Given the description of an element on the screen output the (x, y) to click on. 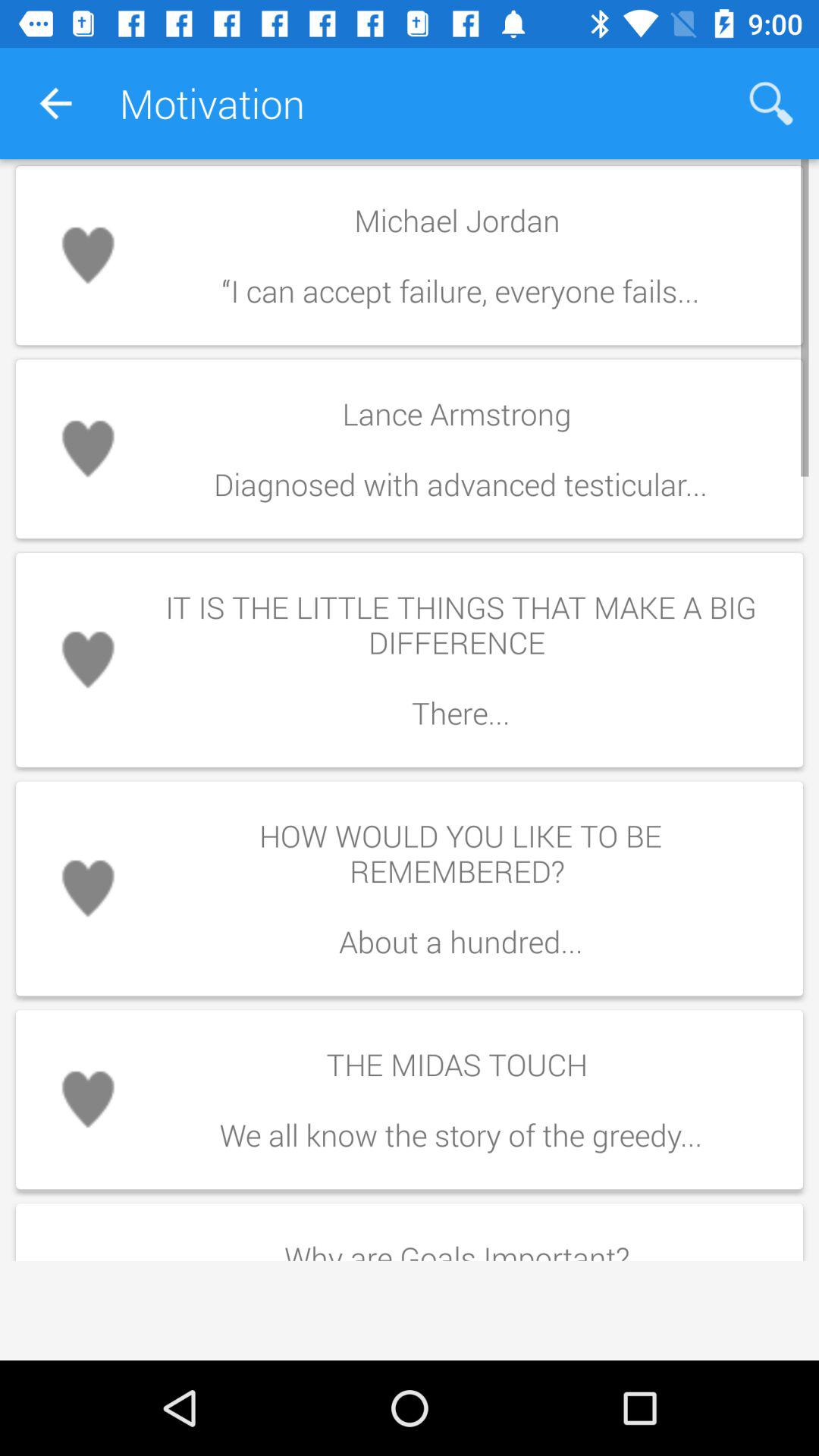
tap item below it is the (460, 888)
